Given the description of an element on the screen output the (x, y) to click on. 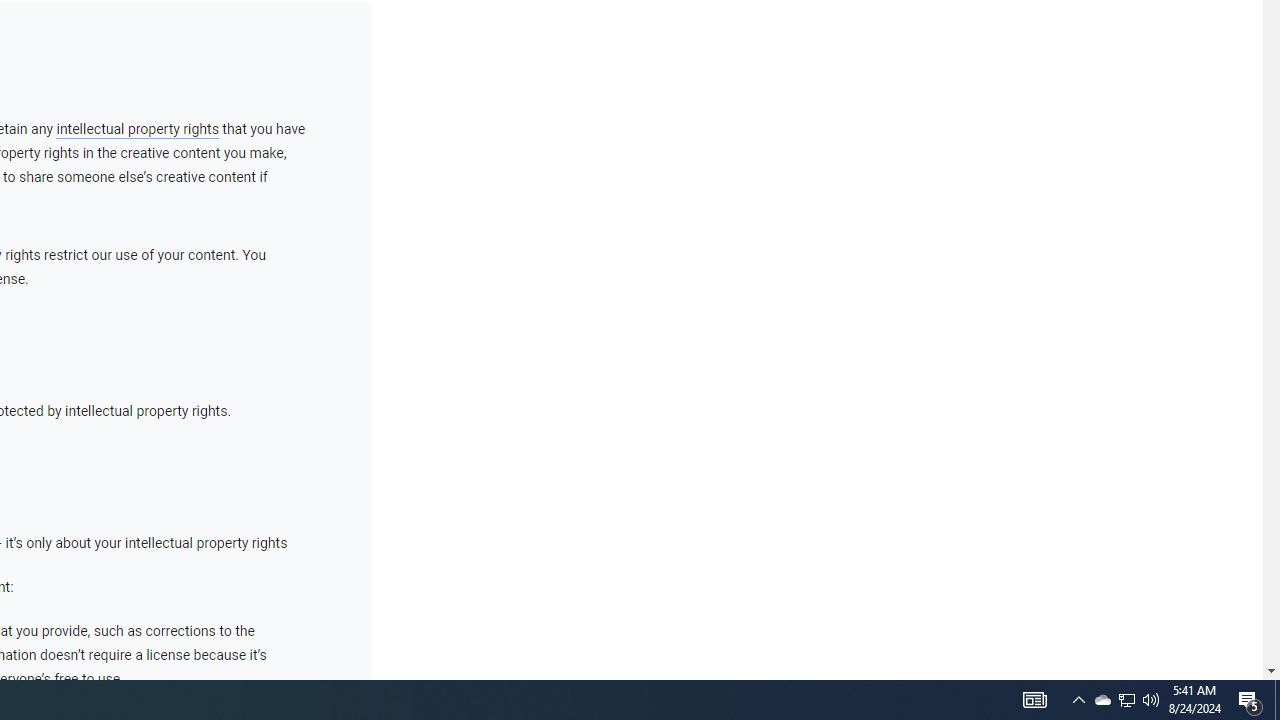
intellectual property rights (137, 129)
